Given the description of an element on the screen output the (x, y) to click on. 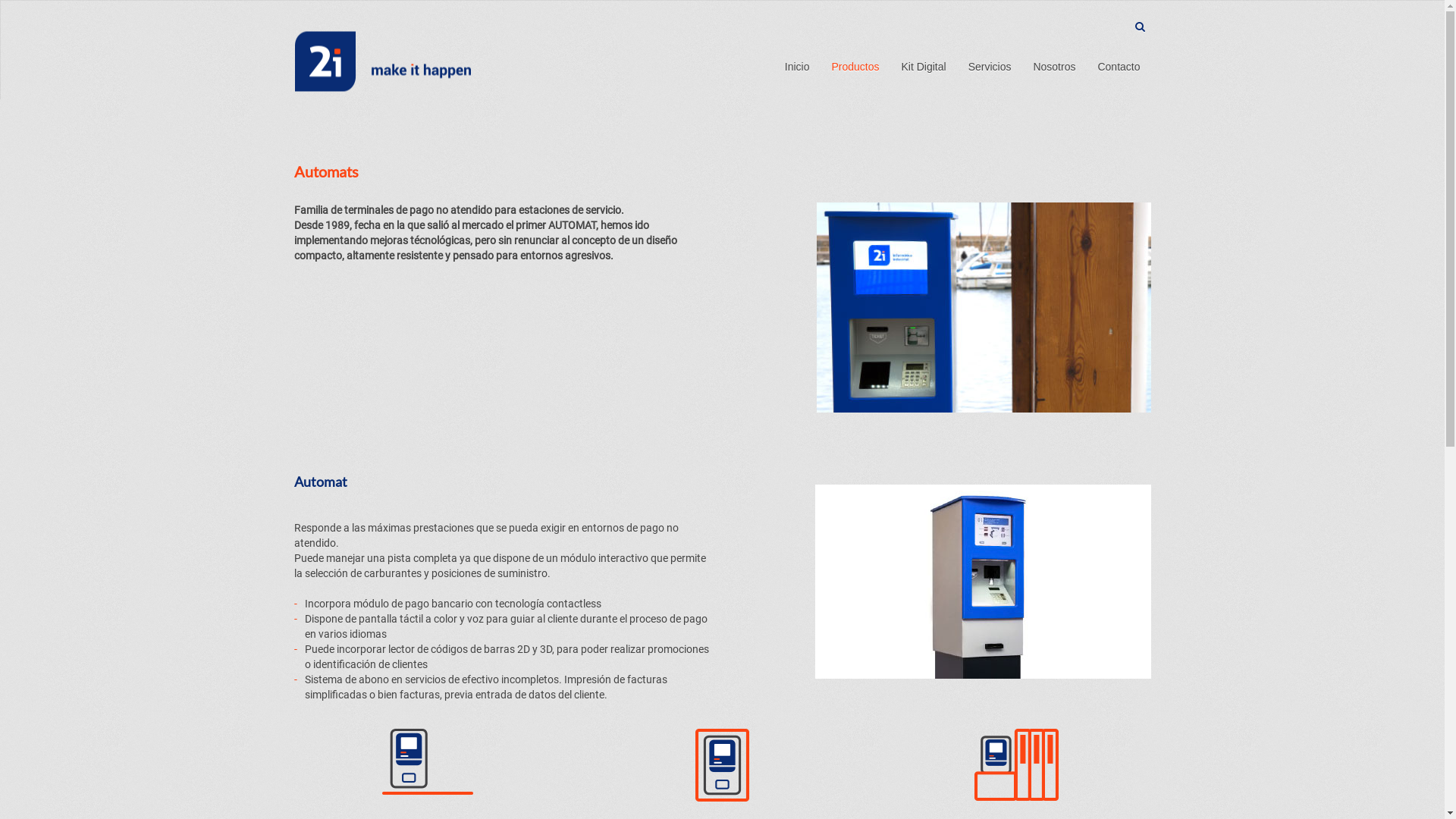
Productos Element type: text (854, 67)
Servicios Element type: text (989, 67)
Kit Digital Element type: text (923, 67)
Inicio Element type: text (797, 67)
Nosotros Element type: text (1053, 67)
Contacto Element type: text (1118, 67)
